Given the description of an element on the screen output the (x, y) to click on. 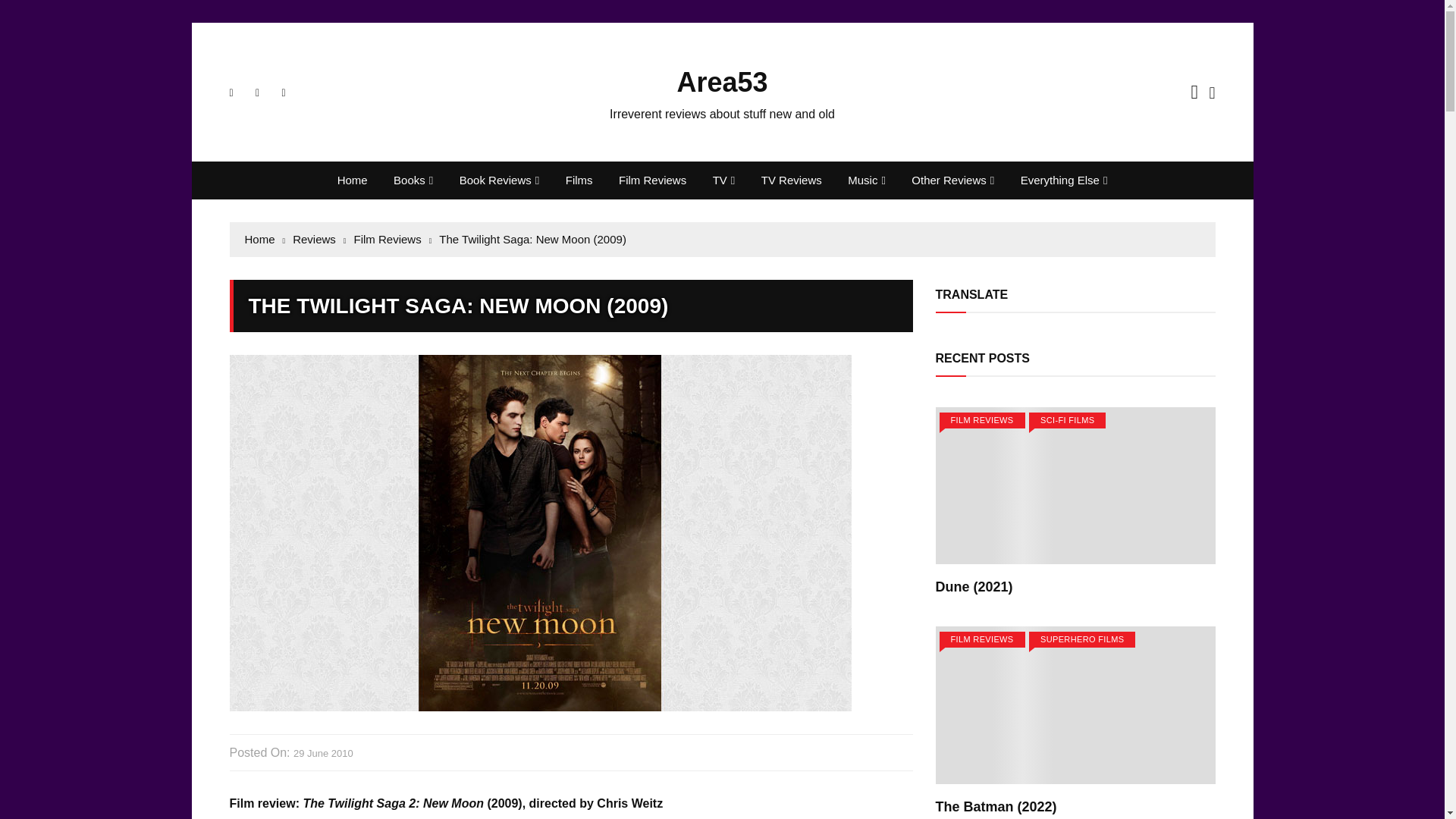
Films (579, 180)
Other Reviews (952, 180)
Home (352, 180)
Music (865, 180)
Area53 (722, 81)
Book Reviews (499, 180)
TV Reviews (790, 180)
TV (723, 180)
Books (412, 180)
Film Reviews (652, 180)
Everything Else (1064, 180)
